Given the description of an element on the screen output the (x, y) to click on. 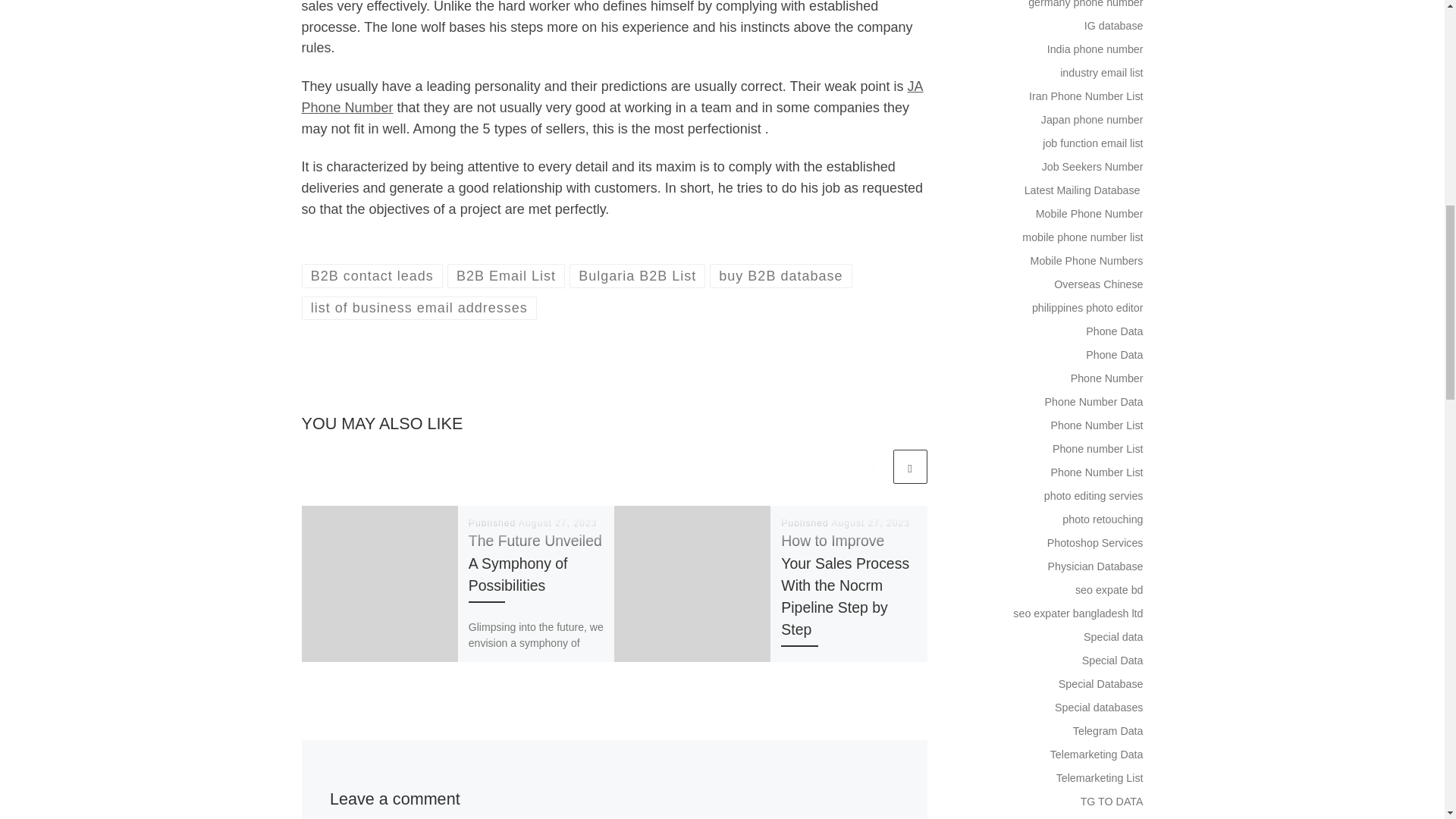
View all posts in B2B contact leads (372, 275)
The Future Unveiled A Symphony of Possibilities (535, 562)
B2B Email List (506, 275)
August 27, 2023 (557, 522)
B2B contact leads (372, 275)
Bulgaria B2B List (637, 275)
Next related articles (910, 466)
August 27, 2023 (870, 522)
Previous related articles (872, 466)
buy B2B database (780, 275)
View all posts in list of business email addresses (419, 308)
View all posts in Bulgaria B2B List (637, 275)
View all posts in B2B Email List (506, 275)
list of business email addresses (419, 308)
